Given the description of an element on the screen output the (x, y) to click on. 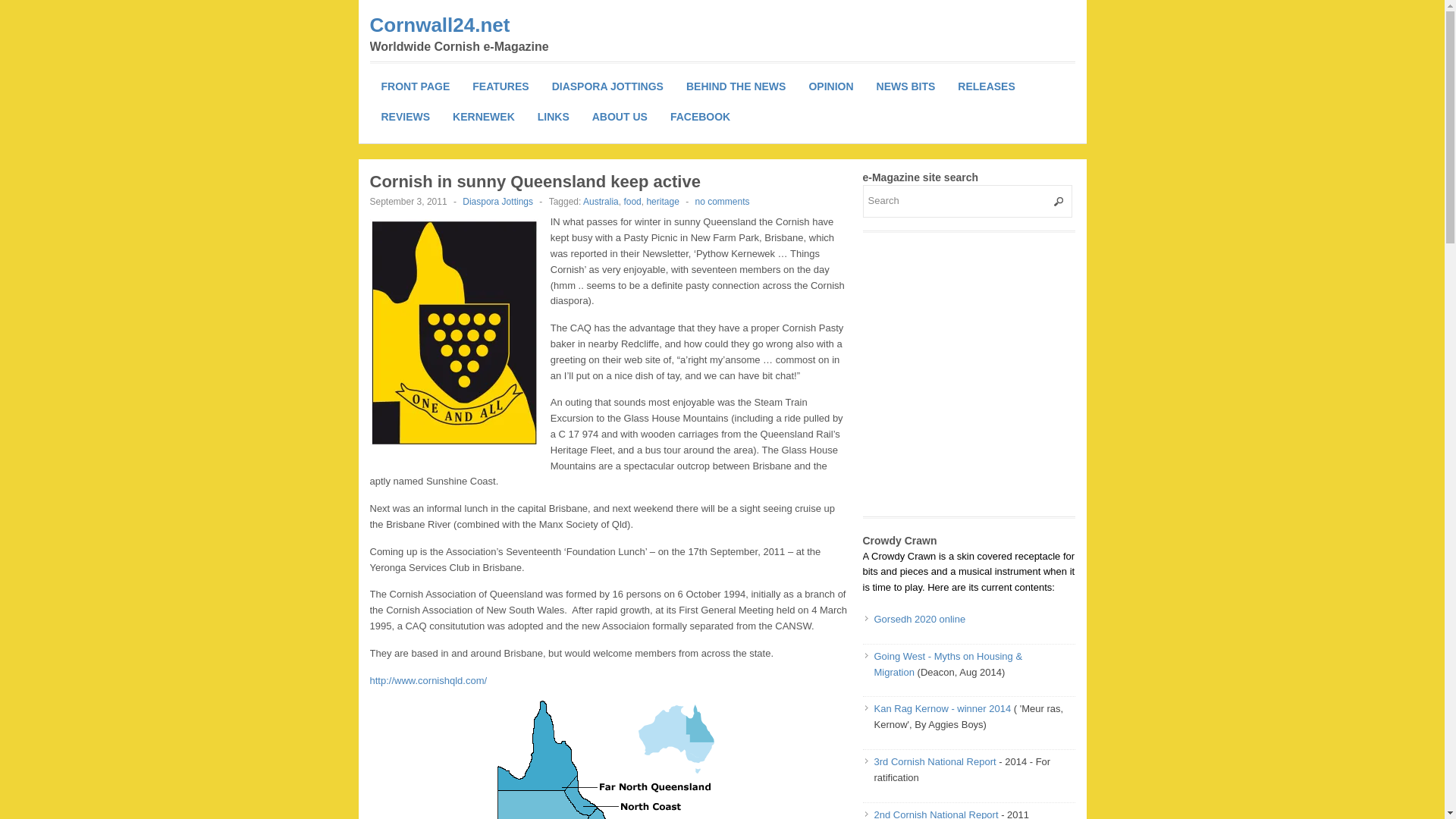
Search (967, 201)
heritage (662, 201)
LINKS (552, 116)
NEWS BITS (905, 86)
OPINION (830, 86)
FRONT PAGE (415, 86)
BEHIND THE NEWS (735, 86)
food (631, 201)
Australia (600, 201)
REVIEWS (405, 116)
Search (967, 201)
Cornwall24.net (440, 24)
FACEBOOK (700, 116)
no comments (721, 201)
KERNEWEK (483, 116)
